Given the description of an element on the screen output the (x, y) to click on. 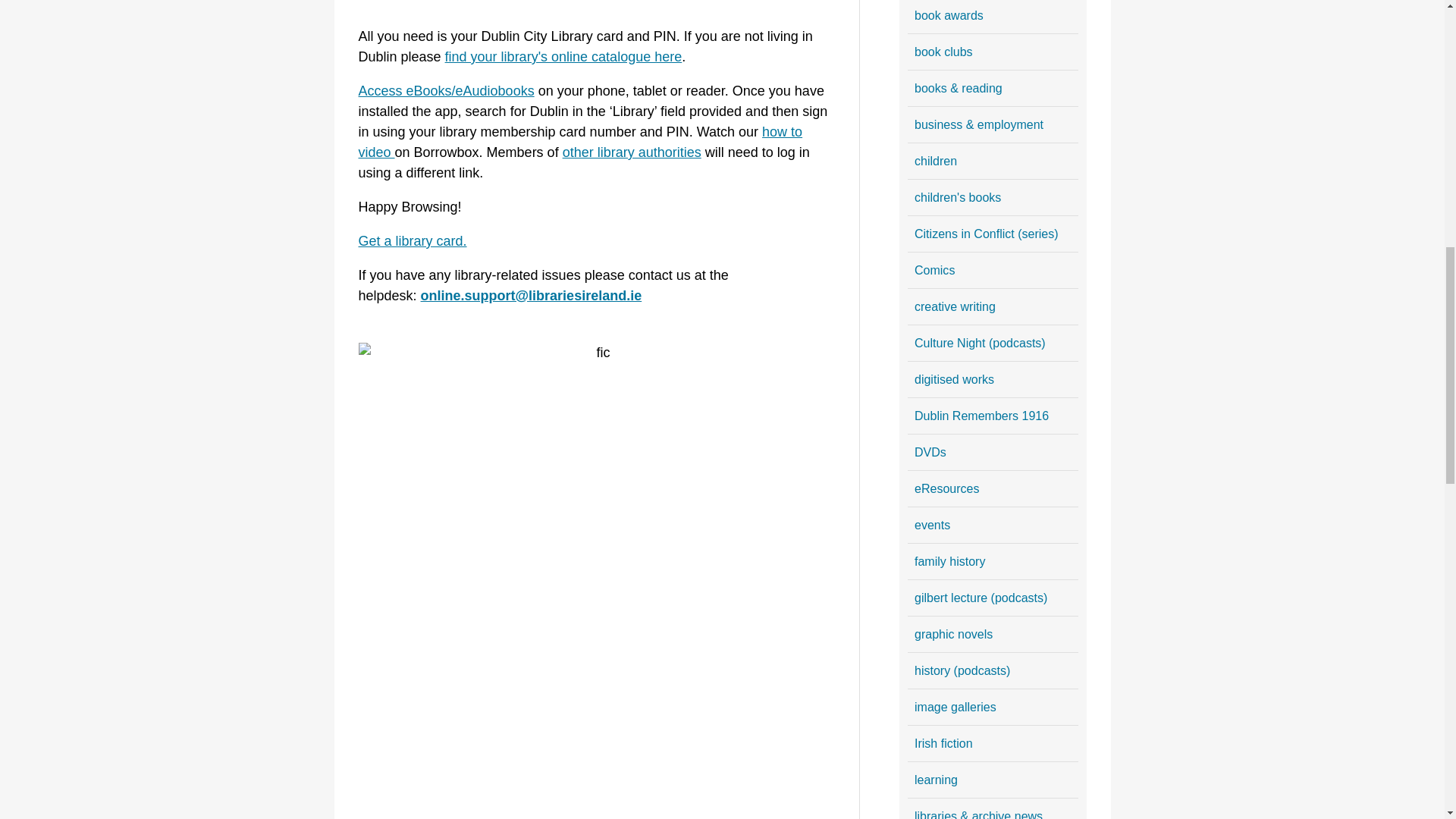
Get a library card. (411, 240)
find your library's online catalogue here (563, 56)
how to video  (580, 141)
other library authorities (631, 151)
